Given the description of an element on the screen output the (x, y) to click on. 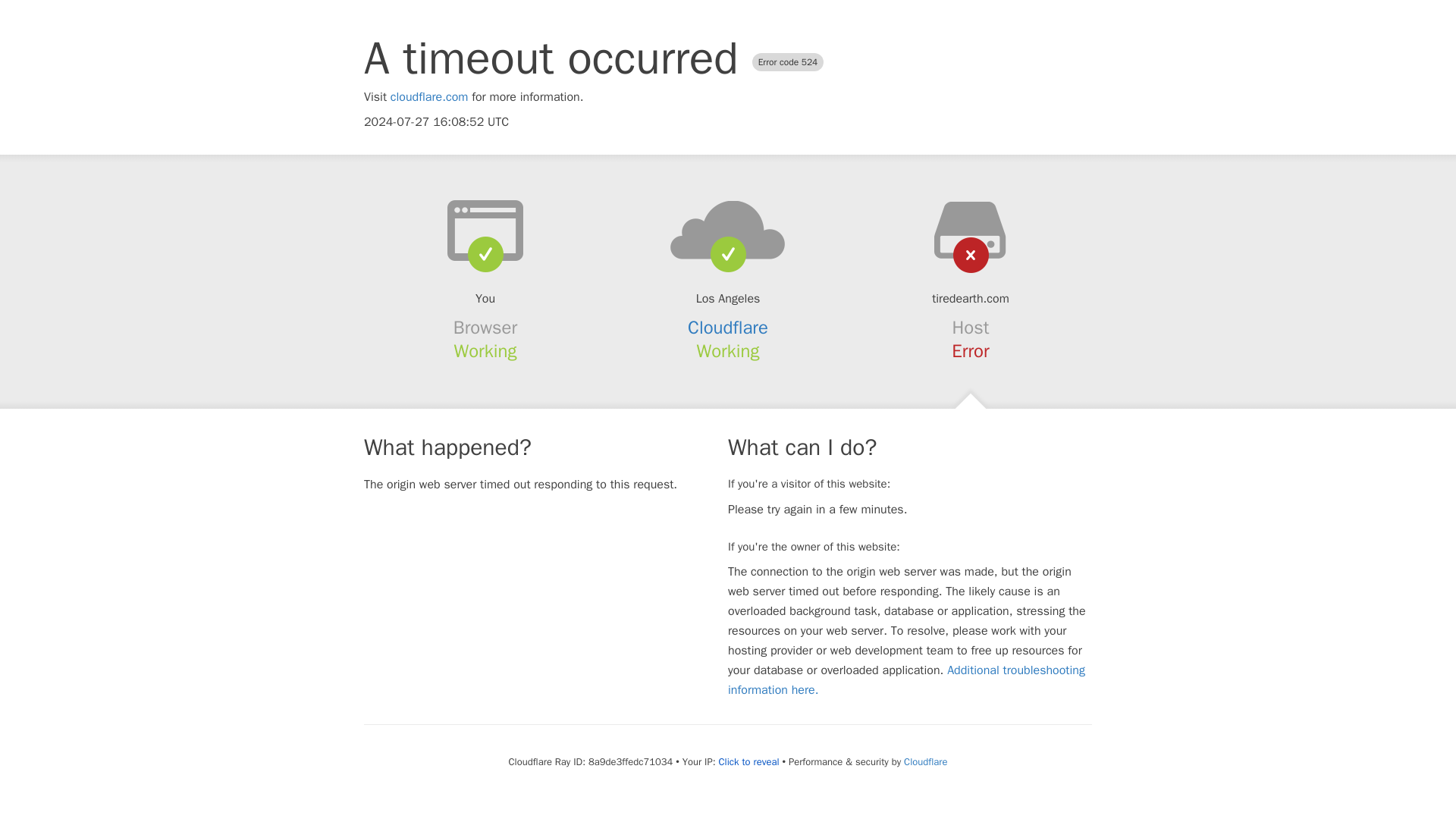
cloudflare.com (429, 96)
Click to reveal (748, 762)
Cloudflare (925, 761)
Additional troubleshooting information here. (906, 679)
Cloudflare (727, 327)
